Given the description of an element on the screen output the (x, y) to click on. 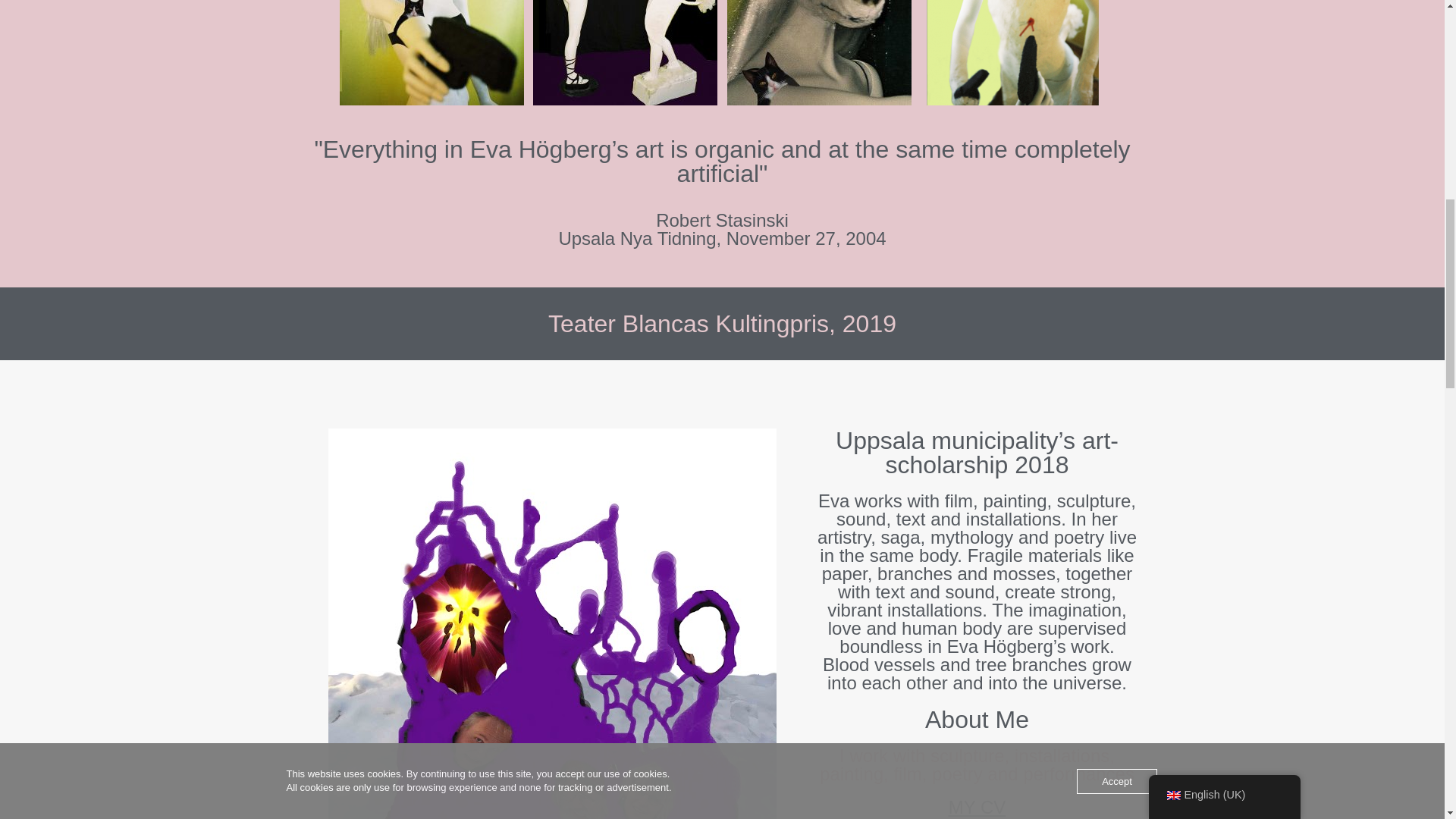
Teater Blancas Kultingpris, 2019 (722, 323)
MY CV (721, 237)
